Given the description of an element on the screen output the (x, y) to click on. 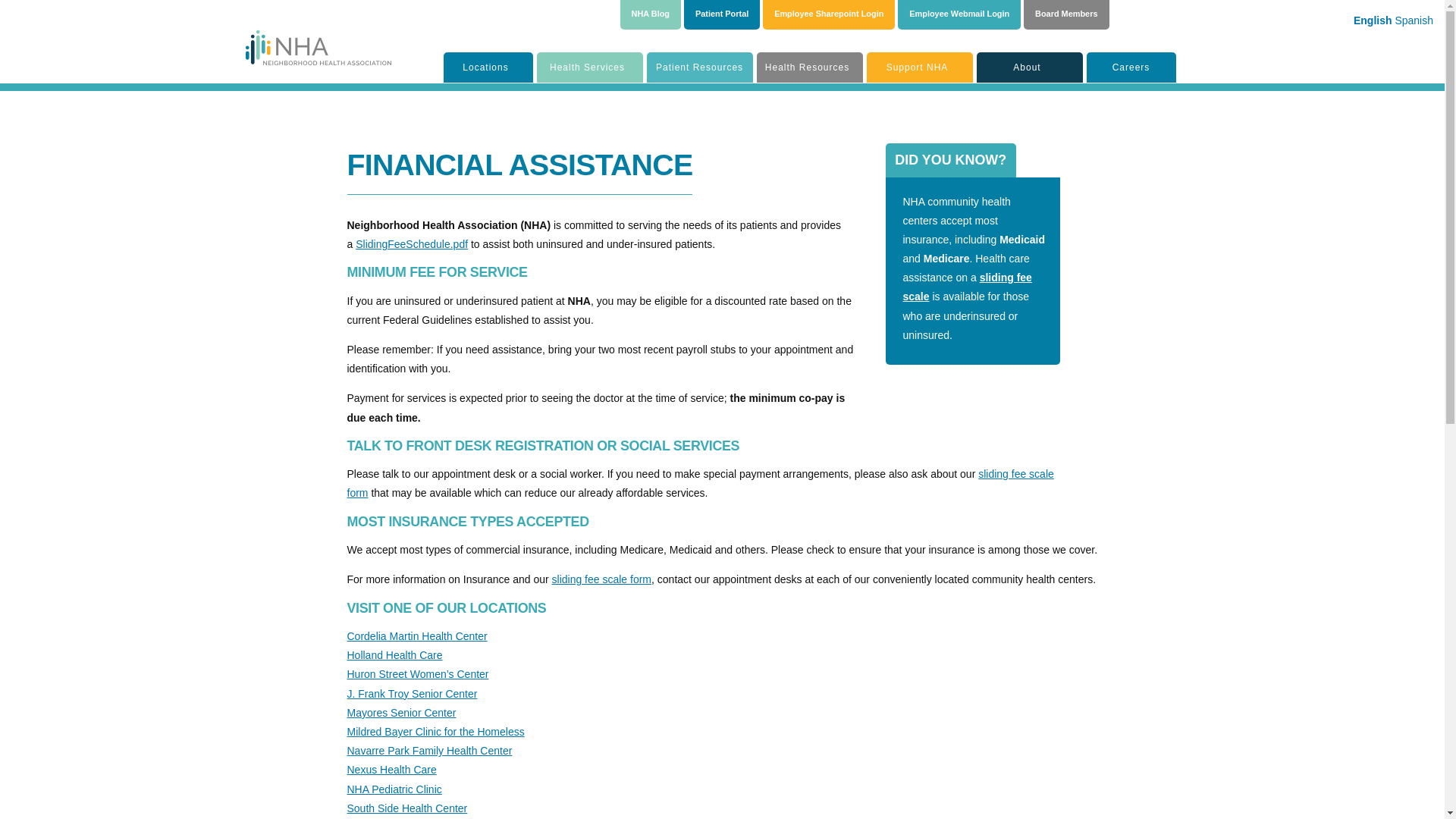
Sliding Fee Schedule pdf (411, 244)
Nexus Health Care (391, 769)
Health Services (590, 67)
Patient Portal (721, 13)
Sliding Fee Scale (966, 286)
South Side Health Center (407, 808)
Navarre Park Family Health Center (429, 750)
Employee Sharepoint Login (828, 13)
Board Members (1066, 13)
Mildred Bayer Clinic for the Homeless (435, 731)
Holland Health Care (394, 654)
Locations (488, 67)
NHA Pediatric Clinic (394, 788)
Huron Street Women's Center (418, 674)
Employee Webmail Login (958, 13)
